Given the description of an element on the screen output the (x, y) to click on. 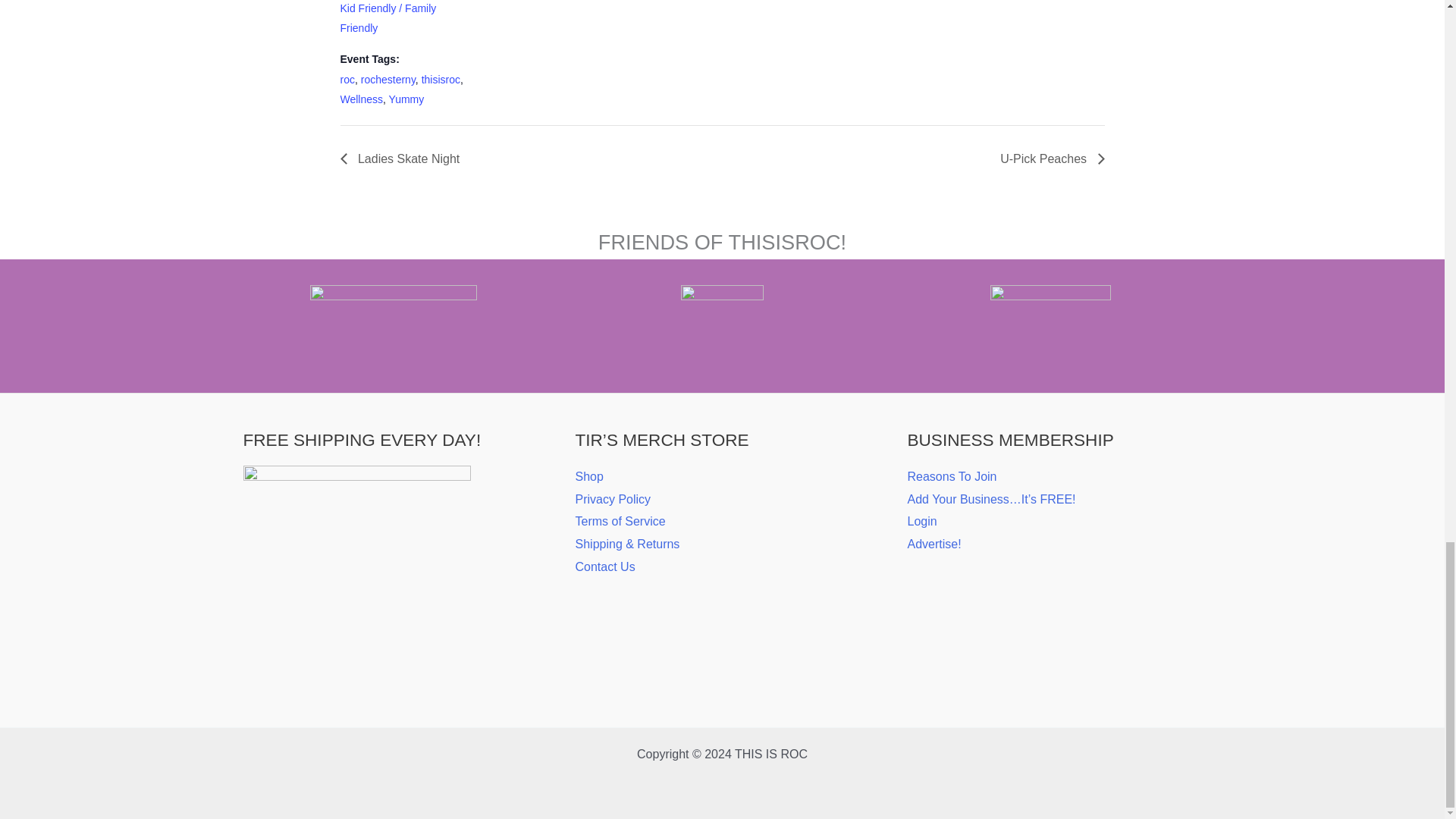
Yummy (406, 99)
U-Pick Peaches (1047, 158)
rochesterny (387, 79)
Ladies Skate Night (403, 158)
thisisroc (441, 79)
Wellness (360, 99)
roc (346, 79)
